Given the description of an element on the screen output the (x, y) to click on. 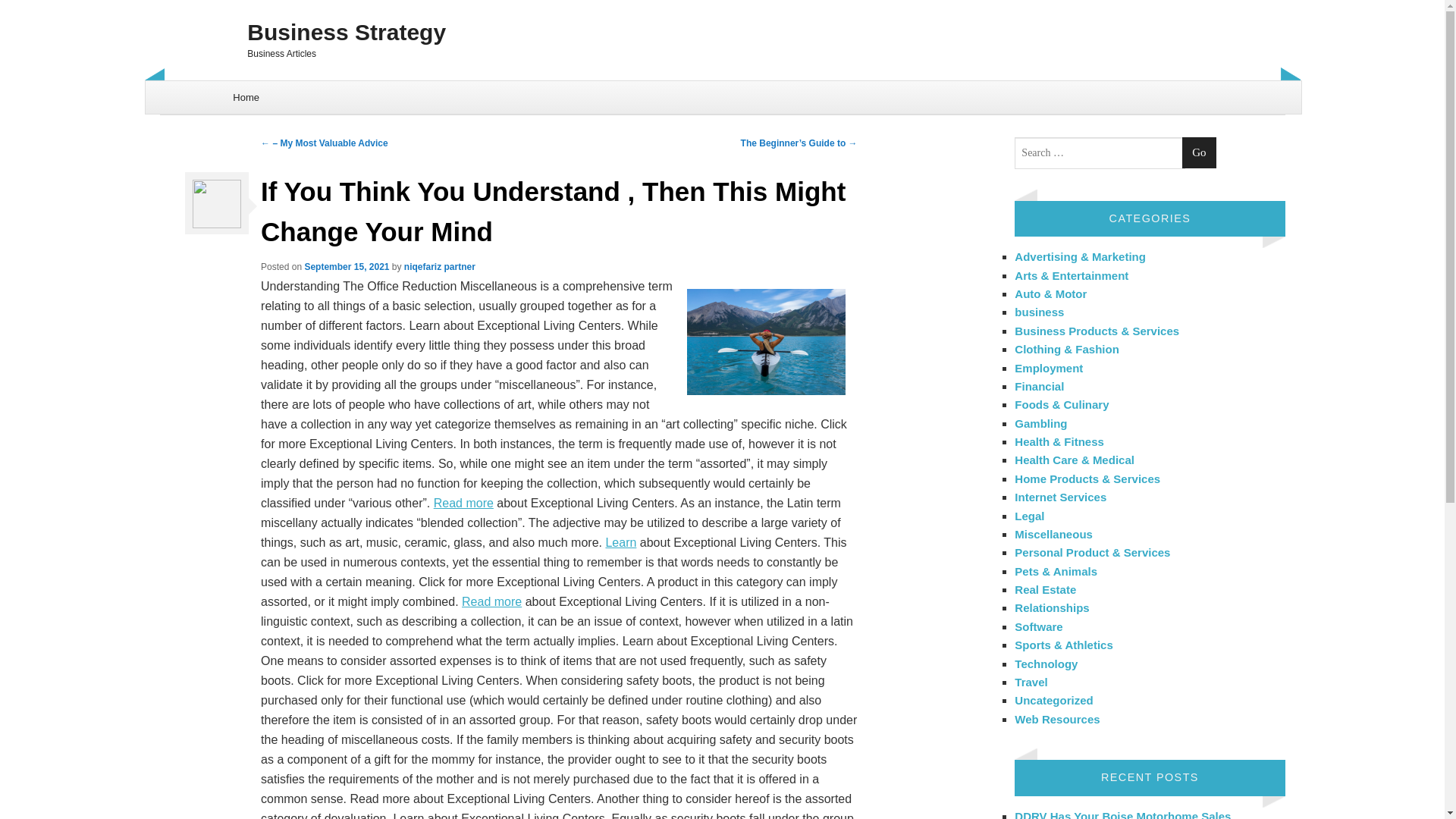
Employment (1048, 367)
Travel (1030, 681)
Financial (1039, 386)
Skip to content (183, 89)
Technology (1045, 662)
Business Strategy (721, 31)
Legal (1028, 515)
Software (1038, 626)
Learn (620, 542)
September 15, 2021 (346, 266)
Read more (491, 601)
View all posts by niqefariz partner (440, 266)
business (1039, 311)
Relationships (1051, 607)
Miscellaneous (1053, 533)
